Given the description of an element on the screen output the (x, y) to click on. 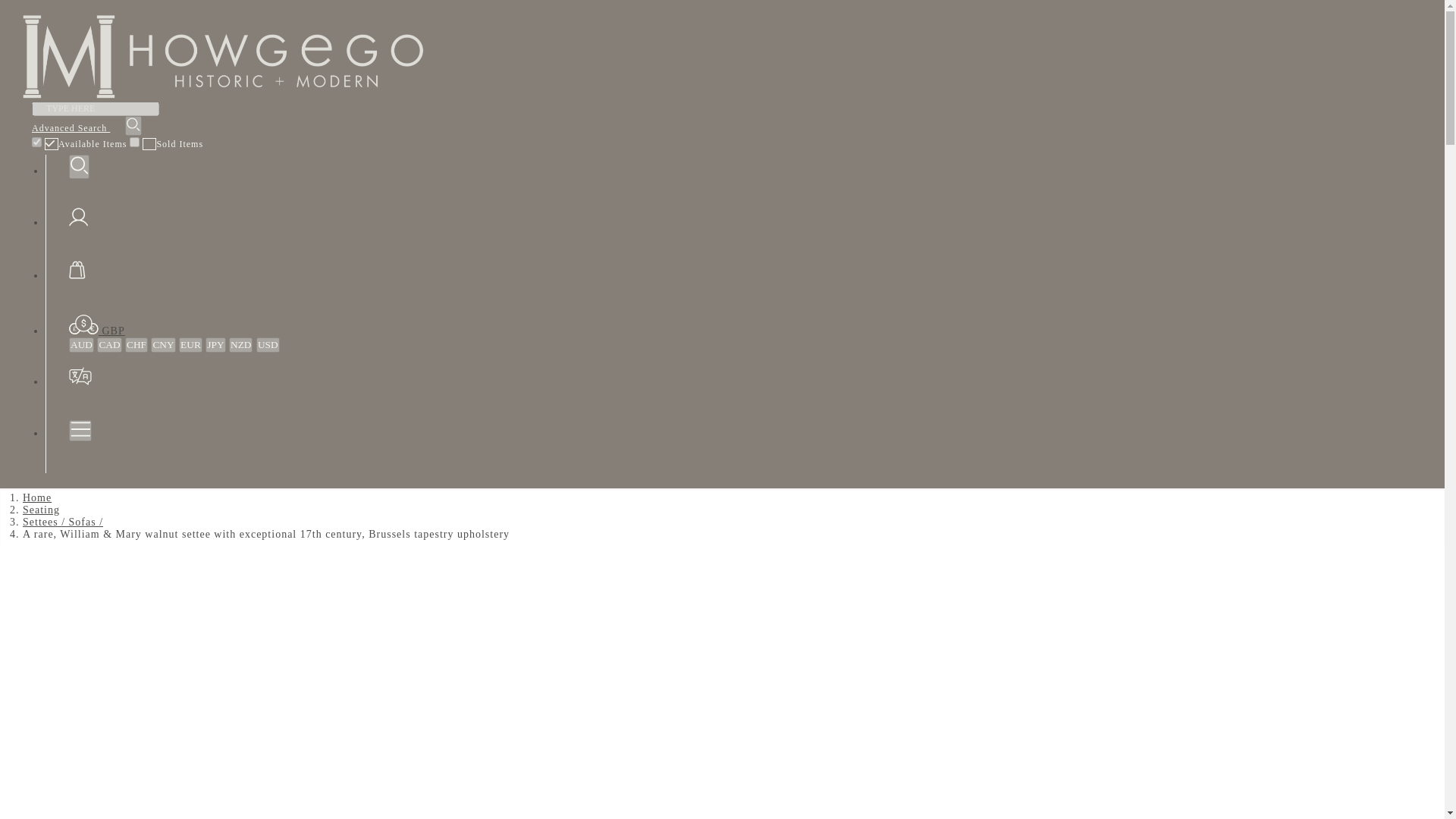
1 (37, 142)
NZD (239, 344)
AUD (81, 344)
USD (267, 344)
1 (134, 142)
JPY (215, 344)
CHF (136, 344)
Advanced Search (71, 127)
CNY (162, 344)
GBP (96, 330)
CAD (108, 344)
EUR (190, 344)
